Given the description of an element on the screen output the (x, y) to click on. 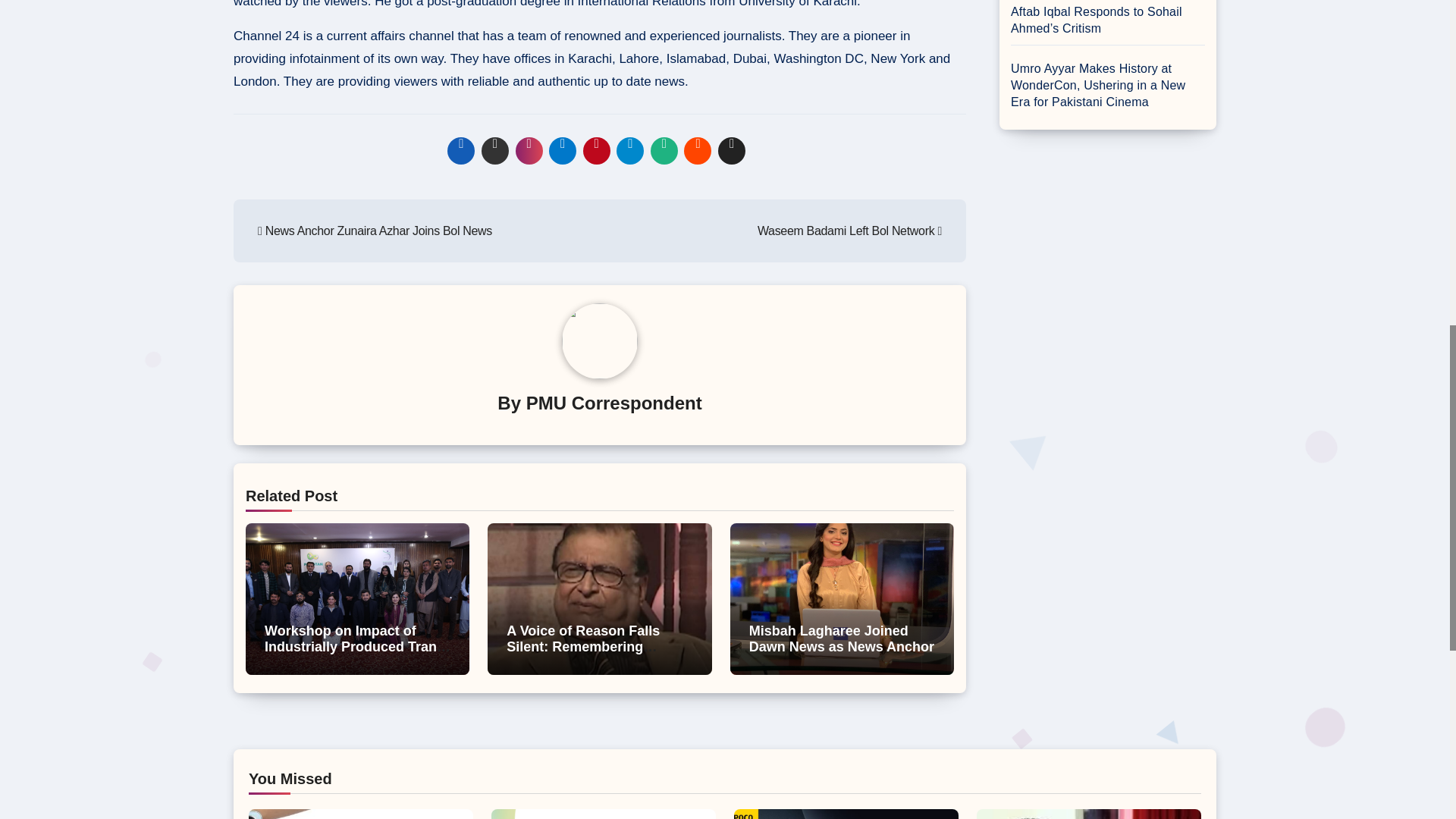
News Anchor Zunaira Azhar Joins Bol News (374, 230)
PMU Correspondent (613, 403)
Waseem Badami Left Bol Network (849, 230)
Misbah Lagharee Joined Dawn News as News Anchor (841, 639)
